Given the description of an element on the screen output the (x, y) to click on. 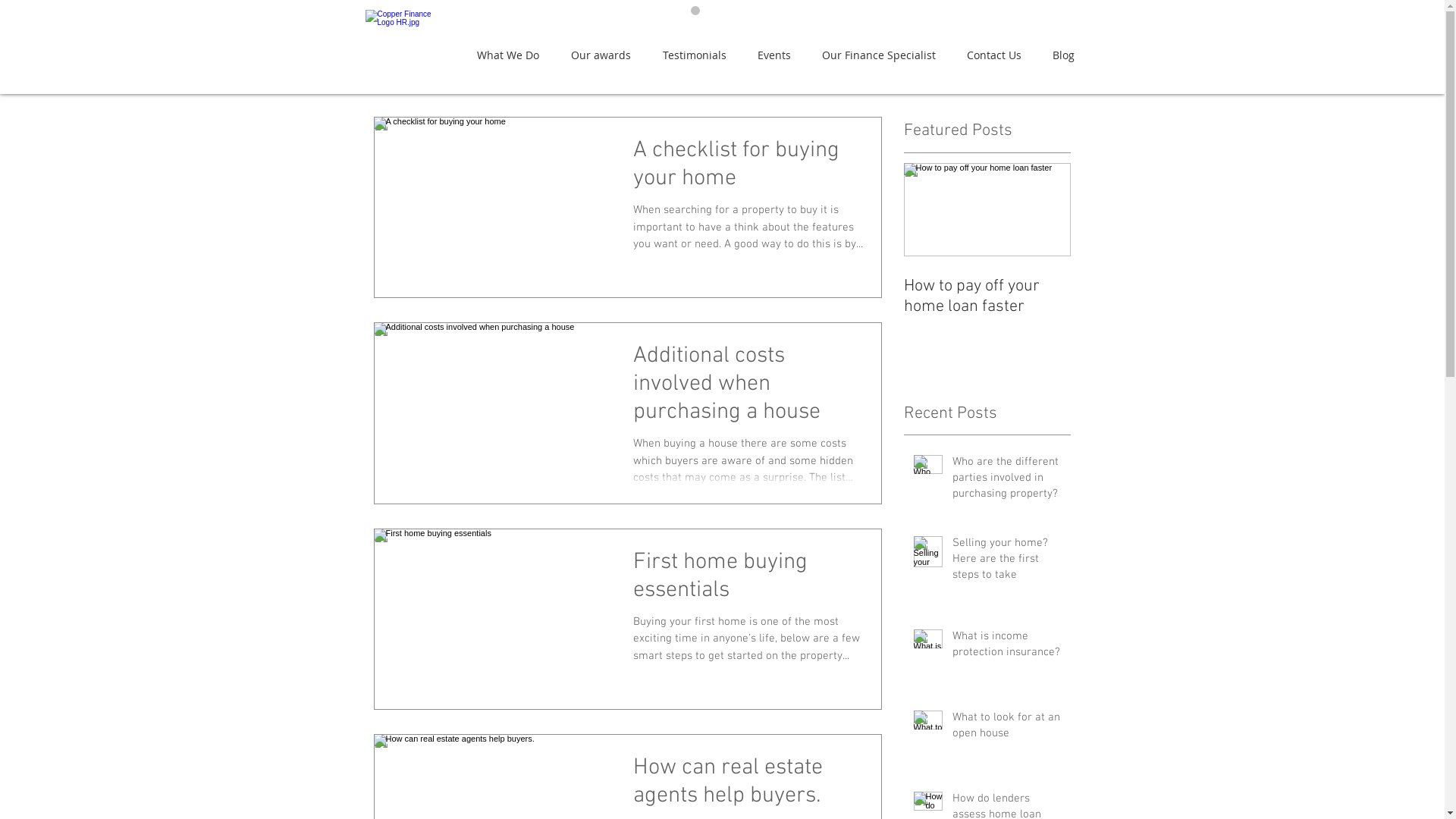
Events Element type: text (778, 54)
What is income protection insurance? Element type: text (1006, 647)
Our Finance Specialist Element type: text (881, 54)
Blog Element type: text (1066, 54)
Our awards Element type: text (605, 54)
A checklist for buying your home Element type: text (747, 168)
Testimonials Element type: text (697, 54)
How to pay off your home loan faster Element type: text (986, 296)
Selling your home? Here are the first steps to take Element type: text (1006, 562)
Additional costs involved when purchasing a house Element type: text (747, 388)
Contact Us Element type: text (998, 54)
What We Do Element type: text (512, 54)
What to look for at an open house Element type: text (1006, 728)
First home buying essentials Element type: text (747, 580)
